Given the description of an element on the screen output the (x, y) to click on. 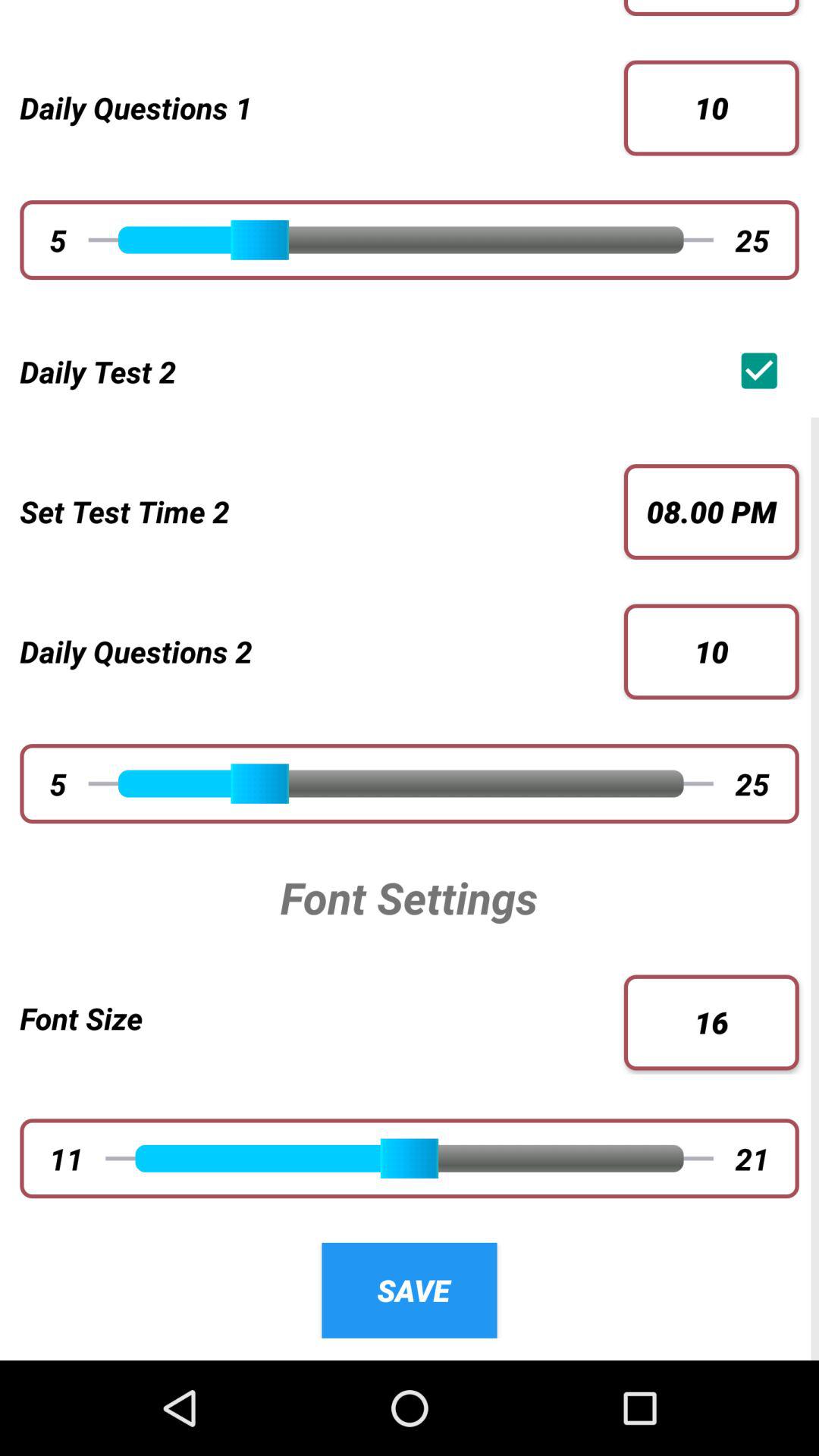
launch the app next to daily test 2 icon (763, 370)
